Given the description of an element on the screen output the (x, y) to click on. 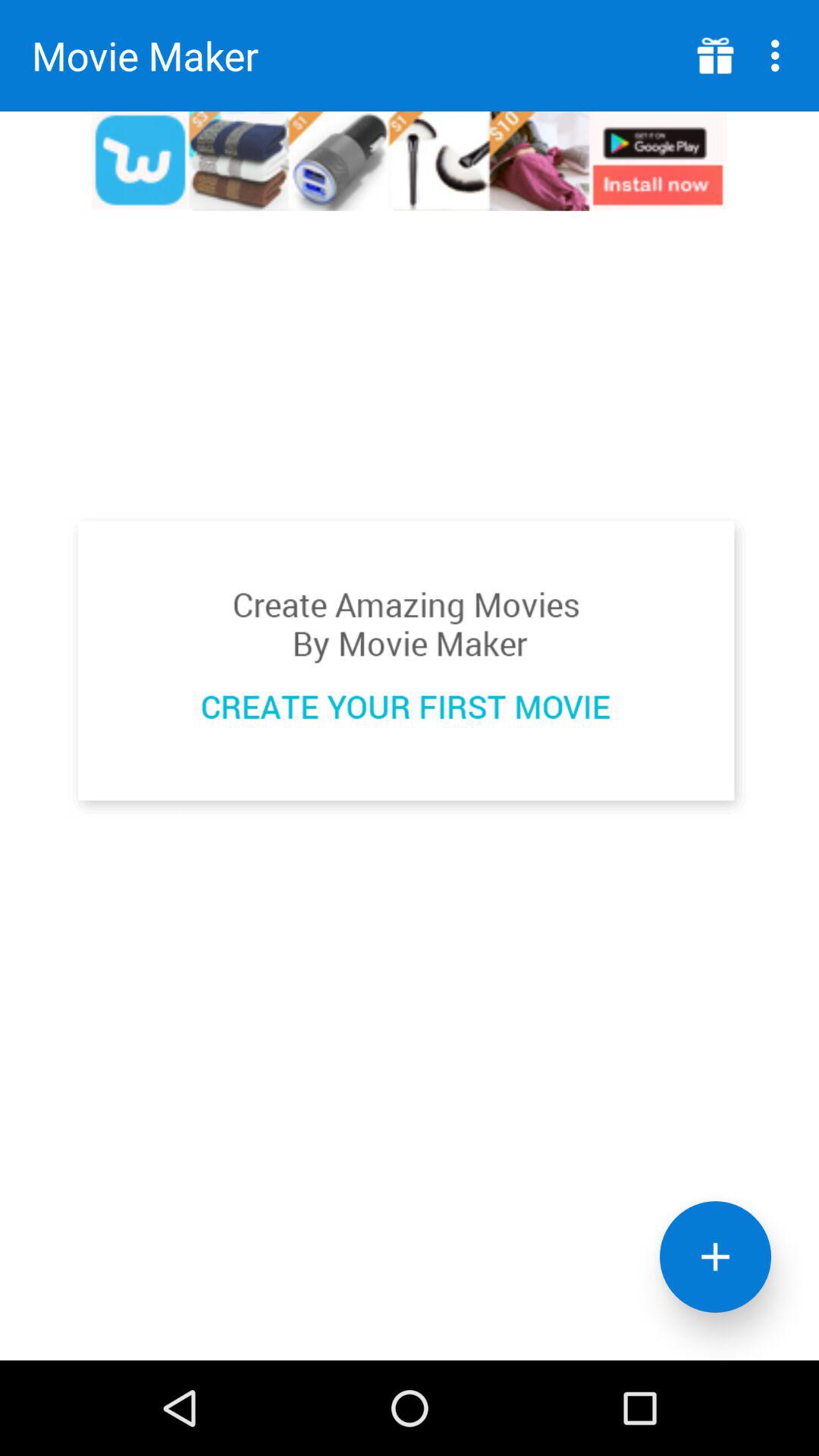
advertisement (715, 55)
